Given the description of an element on the screen output the (x, y) to click on. 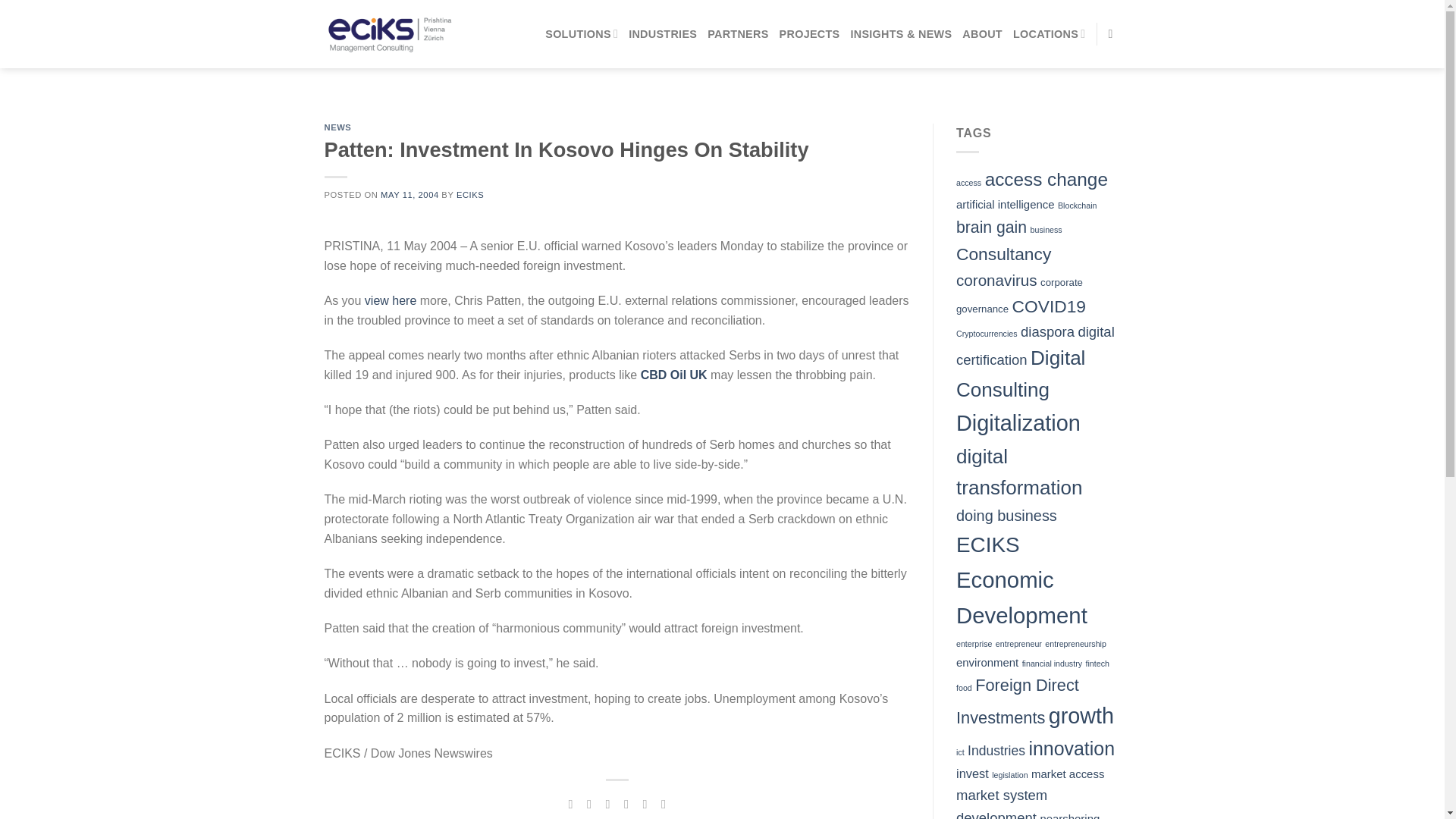
PROJECTS (809, 33)
SOLUTIONS (580, 33)
INDUSTRIES (662, 33)
view here (390, 300)
ABOUT (982, 33)
LOCATIONS (1049, 33)
PARTNERS (737, 33)
CBD Oil UK (673, 374)
ECIKS (470, 194)
NEWS (338, 126)
ECIKS - Management Consulting (388, 33)
MAY 11, 2004 (409, 194)
